Given the description of an element on the screen output the (x, y) to click on. 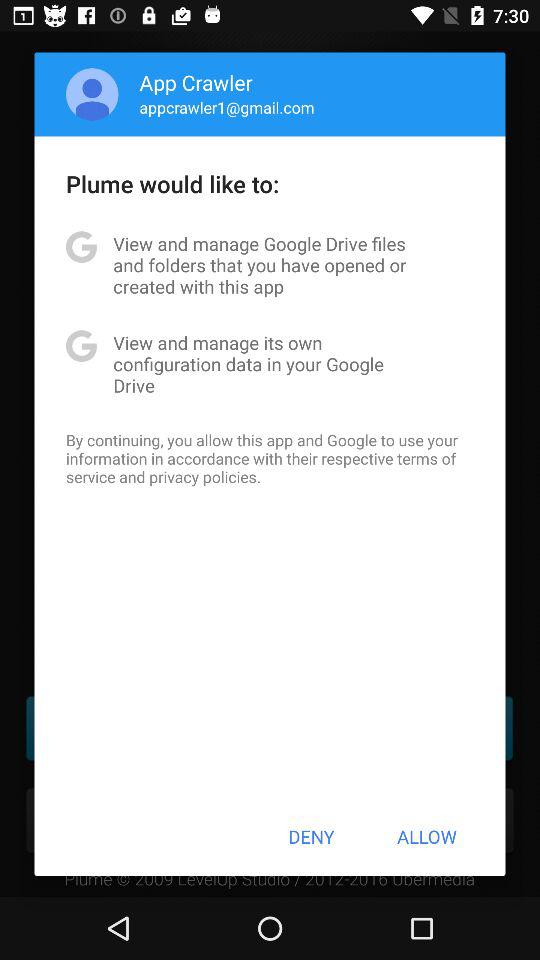
turn on item next to the allow button (311, 836)
